Given the description of an element on the screen output the (x, y) to click on. 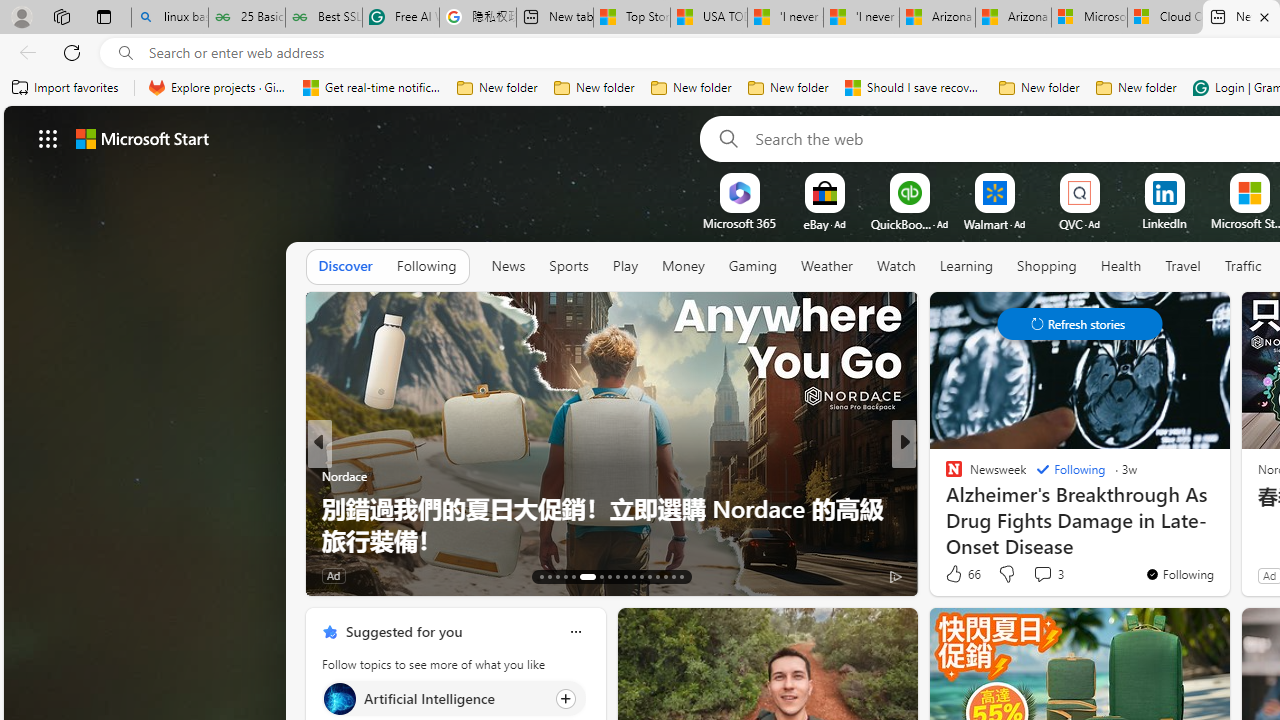
LinkedIn (1163, 223)
Shape (944, 507)
AutomationID: tab-16 (564, 576)
Shopping (1047, 265)
AutomationID: tab-17 (573, 576)
PC World (944, 475)
Travel (1183, 267)
AutomationID: tab-24 (641, 576)
